Given the description of an element on the screen output the (x, y) to click on. 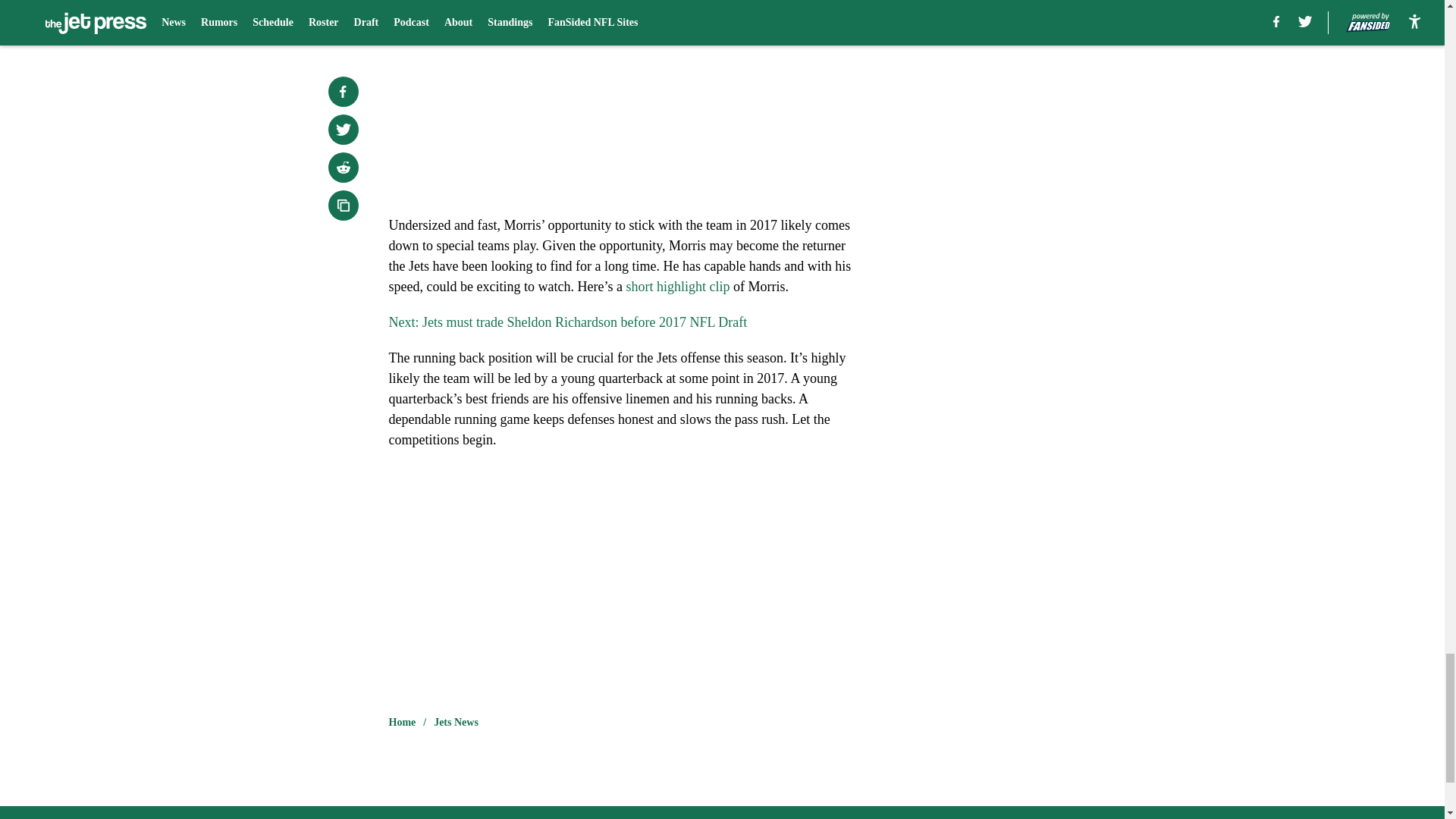
short highlight clip (677, 286)
Jets News (456, 722)
Home (401, 722)
